Given the description of an element on the screen output the (x, y) to click on. 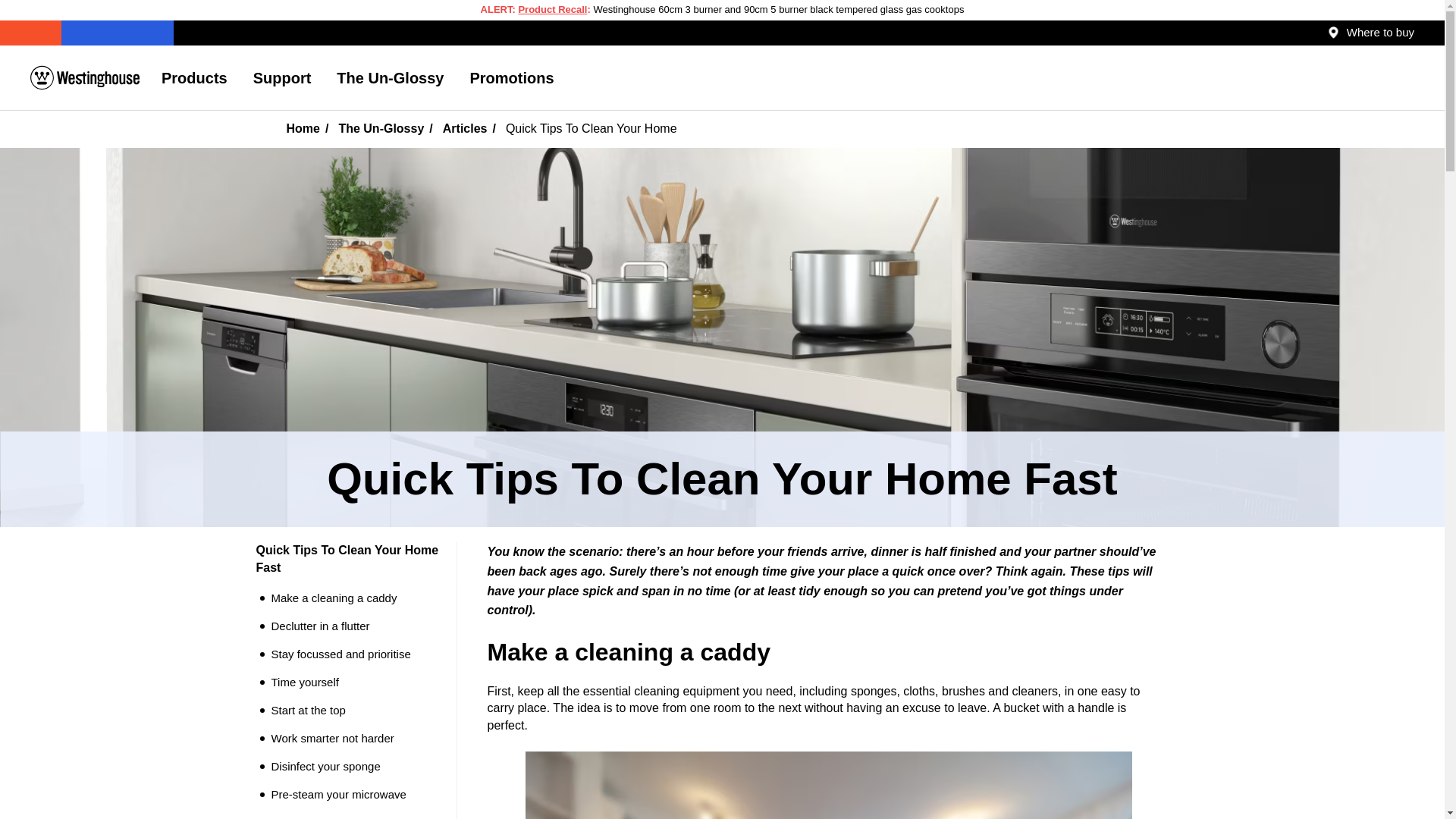
Products (194, 77)
Where to buy (1370, 32)
Product Recall (552, 9)
